Given the description of an element on the screen output the (x, y) to click on. 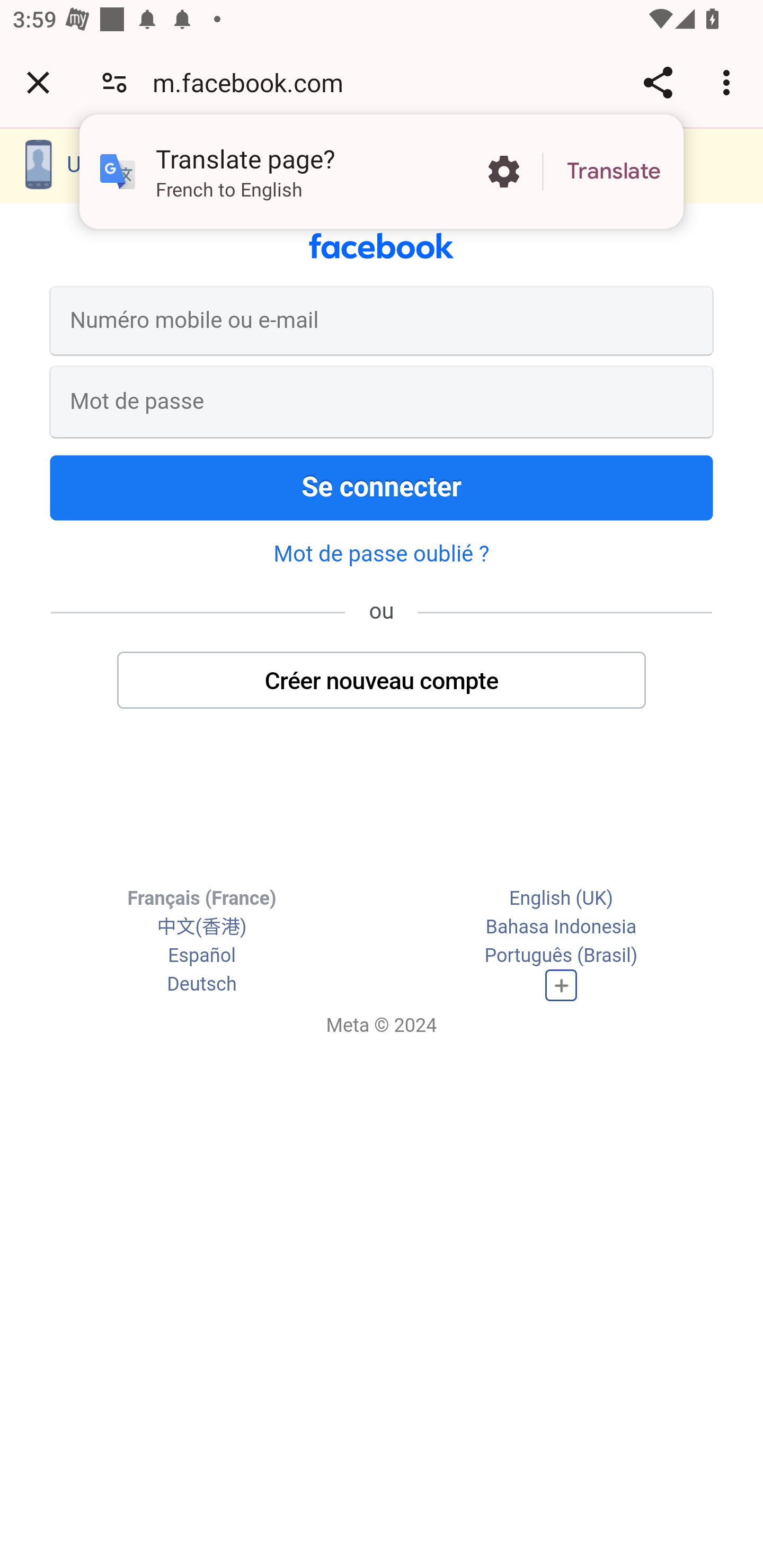
Close tab (38, 82)
Share (657, 82)
Customize and control Google Chrome (729, 82)
Connection is secure (114, 81)
m.facebook.com (254, 81)
Translate (613, 171)
More options in the Translate page? (503, 171)
facebook (381, 245)
Se connecter (381, 486)
Mot de passe oublié ? (381, 553)
Créer nouveau compte (381, 679)
English (UK) (560, 899)
中文(香港) (201, 927)
Bahasa Indonesia (560, 927)
Español (201, 955)
Português (Brasil) (560, 955)
Liste complète des langues (560, 984)
Deutsch (201, 983)
